Given the description of an element on the screen output the (x, y) to click on. 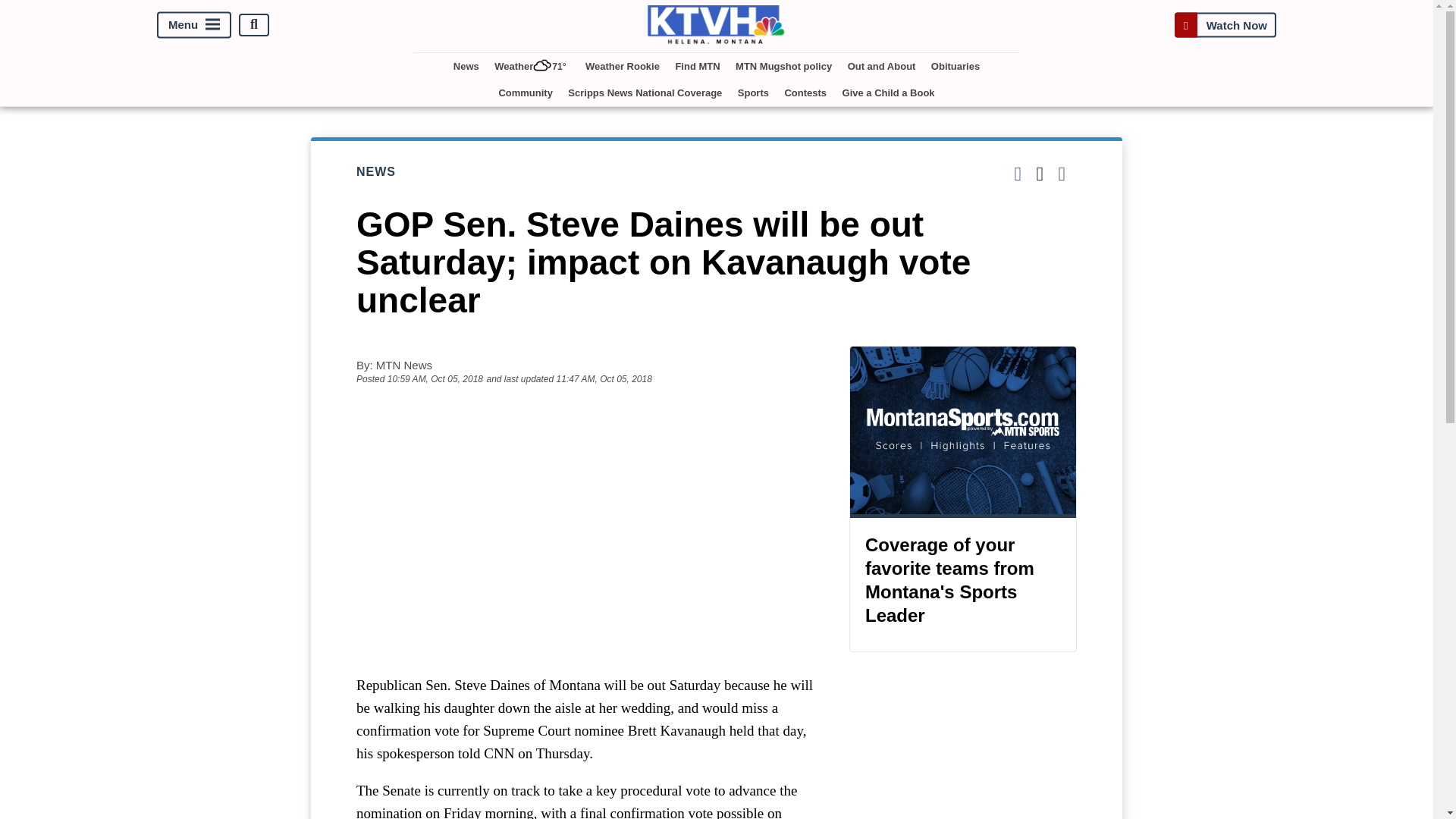
Watch Now (1224, 24)
Menu (194, 24)
YouTube player (587, 529)
